Given the description of an element on the screen output the (x, y) to click on. 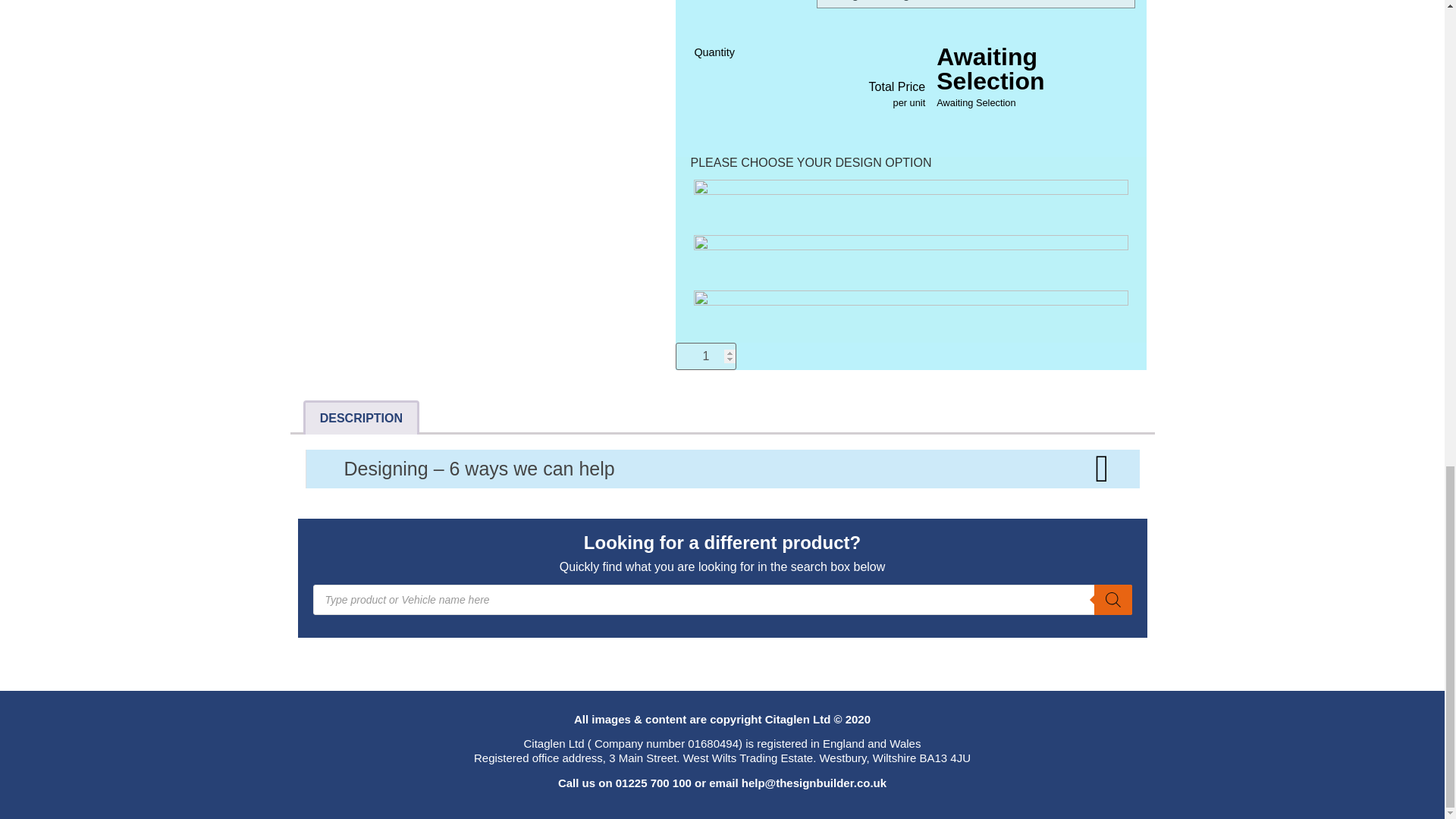
1 (705, 356)
